Given the description of an element on the screen output the (x, y) to click on. 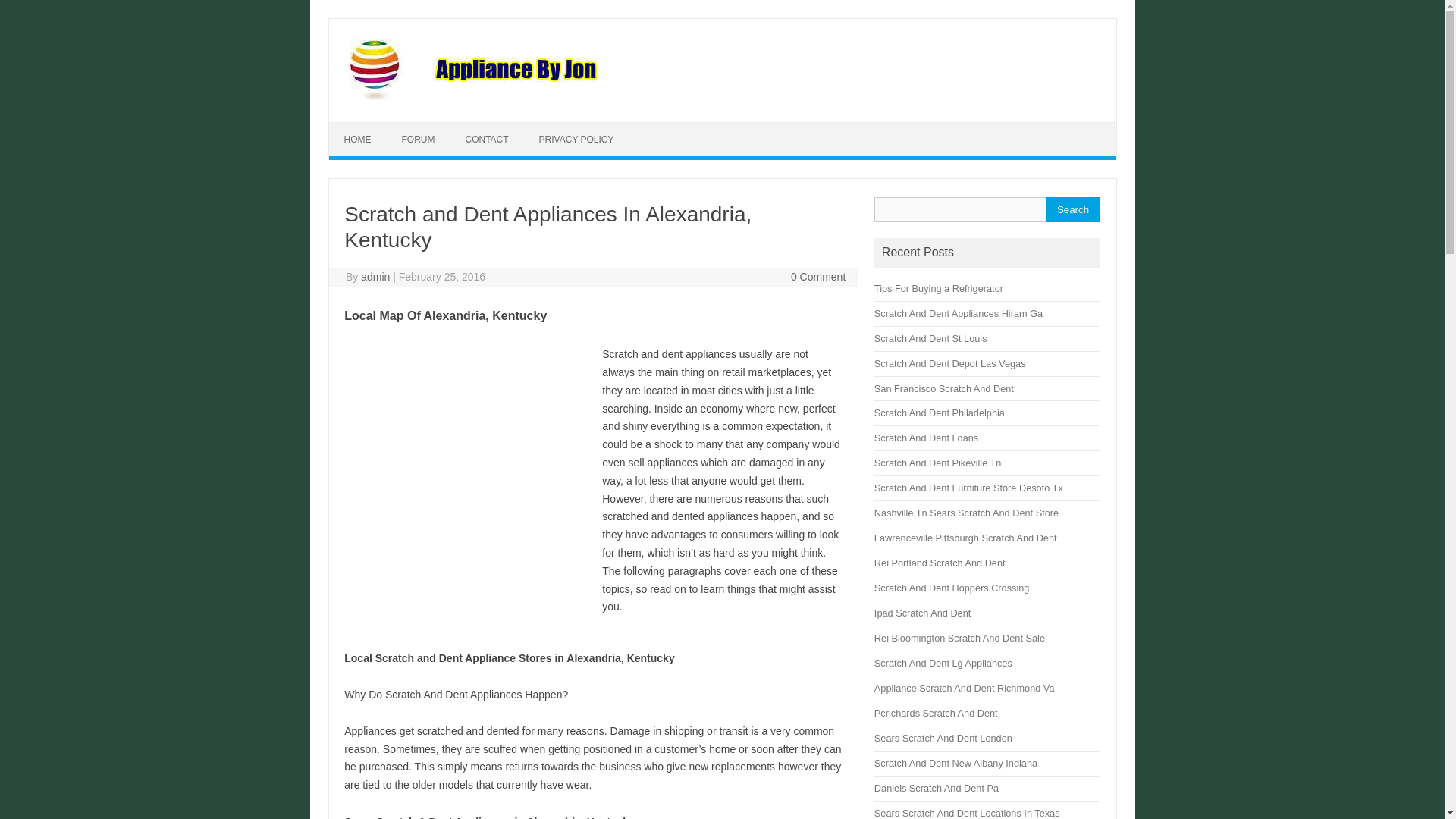
Scratch And Dent Furniture Store Desoto Tx (968, 487)
Scratch And Dent Lg Appliances (943, 663)
Rei Bloomington Scratch And Dent Sale (960, 637)
Scratch And Dent Loans (926, 437)
Posts by admin (375, 276)
Rei Portland Scratch And Dent (940, 562)
Pcrichards Scratch And Dent (936, 713)
Sears Scratch And Dent Locations In Texas (967, 813)
Search (1072, 209)
